Given the description of an element on the screen output the (x, y) to click on. 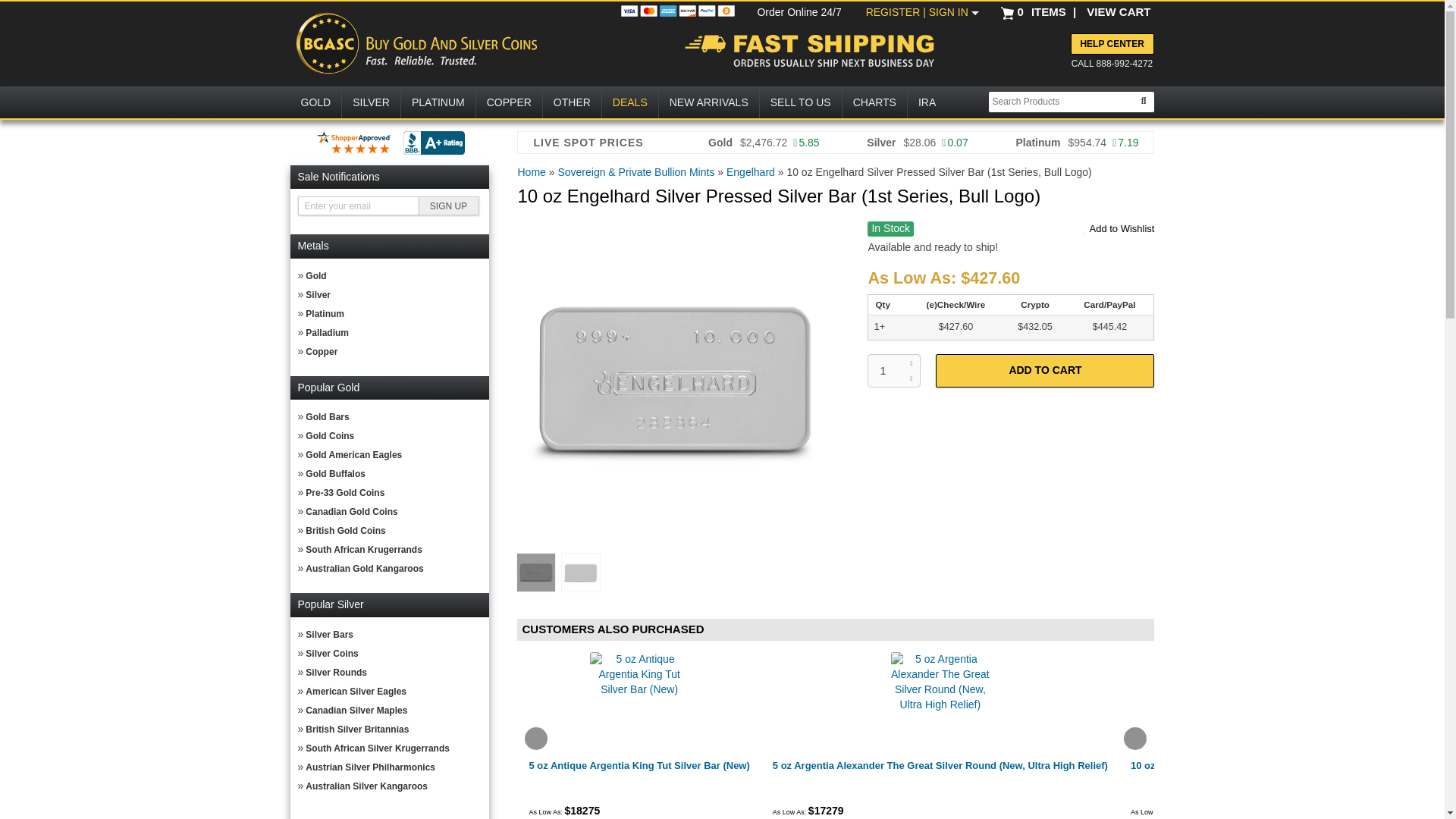
HELP CENTER (1112, 43)
Go to BGASC. (530, 172)
GOLD (315, 101)
1 (893, 370)
REGISTER (894, 11)
Sign Up (449, 205)
Go to the Engelhard Category archives. (750, 172)
Qty (893, 370)
VIEW CART (1118, 11)
CALL 888-992-4272 (1106, 63)
